Given the description of an element on the screen output the (x, y) to click on. 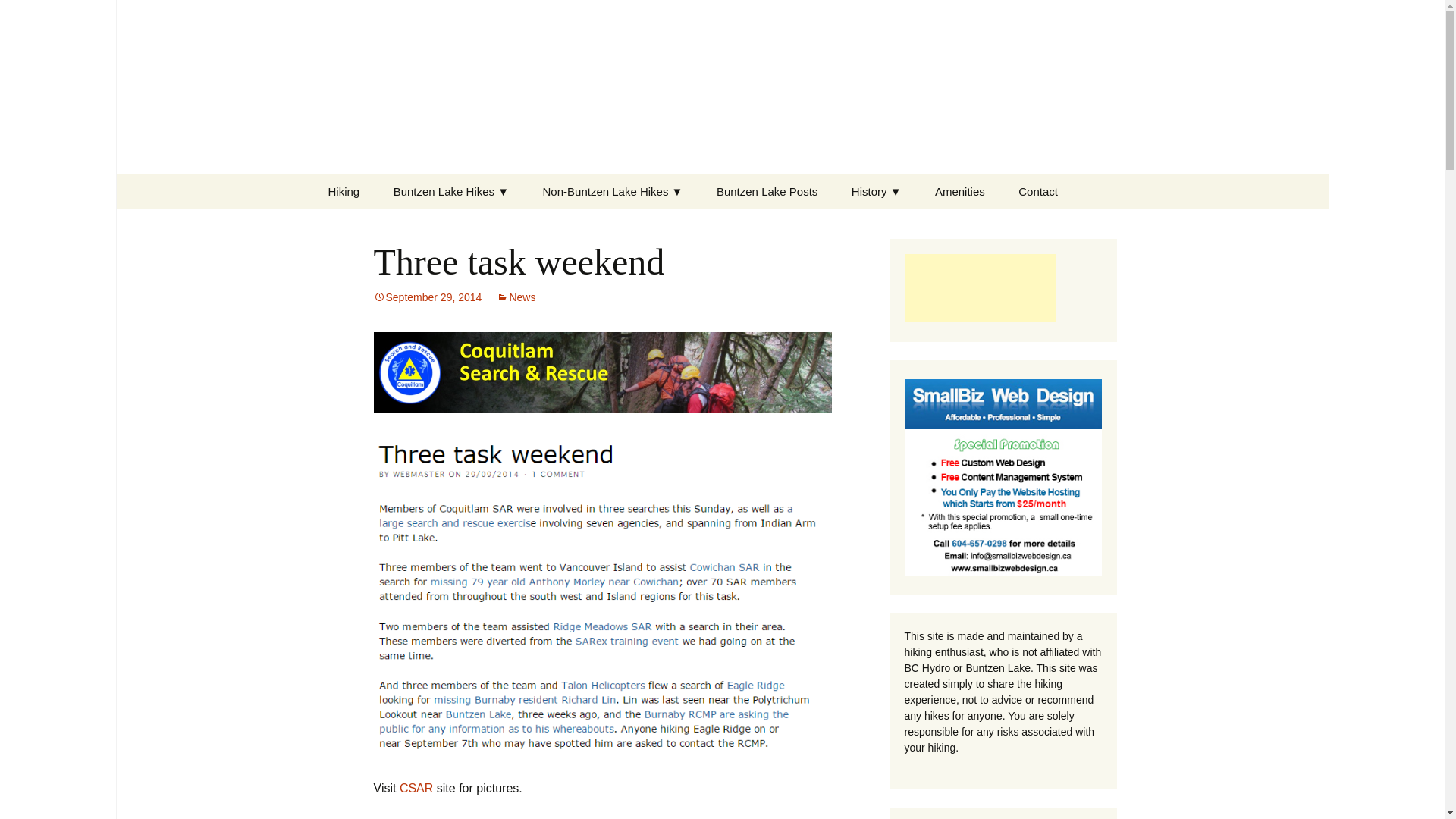
Permalink to Three task weekend (426, 297)
Buntzen Lake Loop (453, 225)
Advertisement (979, 287)
Hiking (343, 191)
General hiking page (343, 191)
Link to article (601, 372)
New hikes added regularly (612, 191)
North Shore (603, 225)
